Given the description of an element on the screen output the (x, y) to click on. 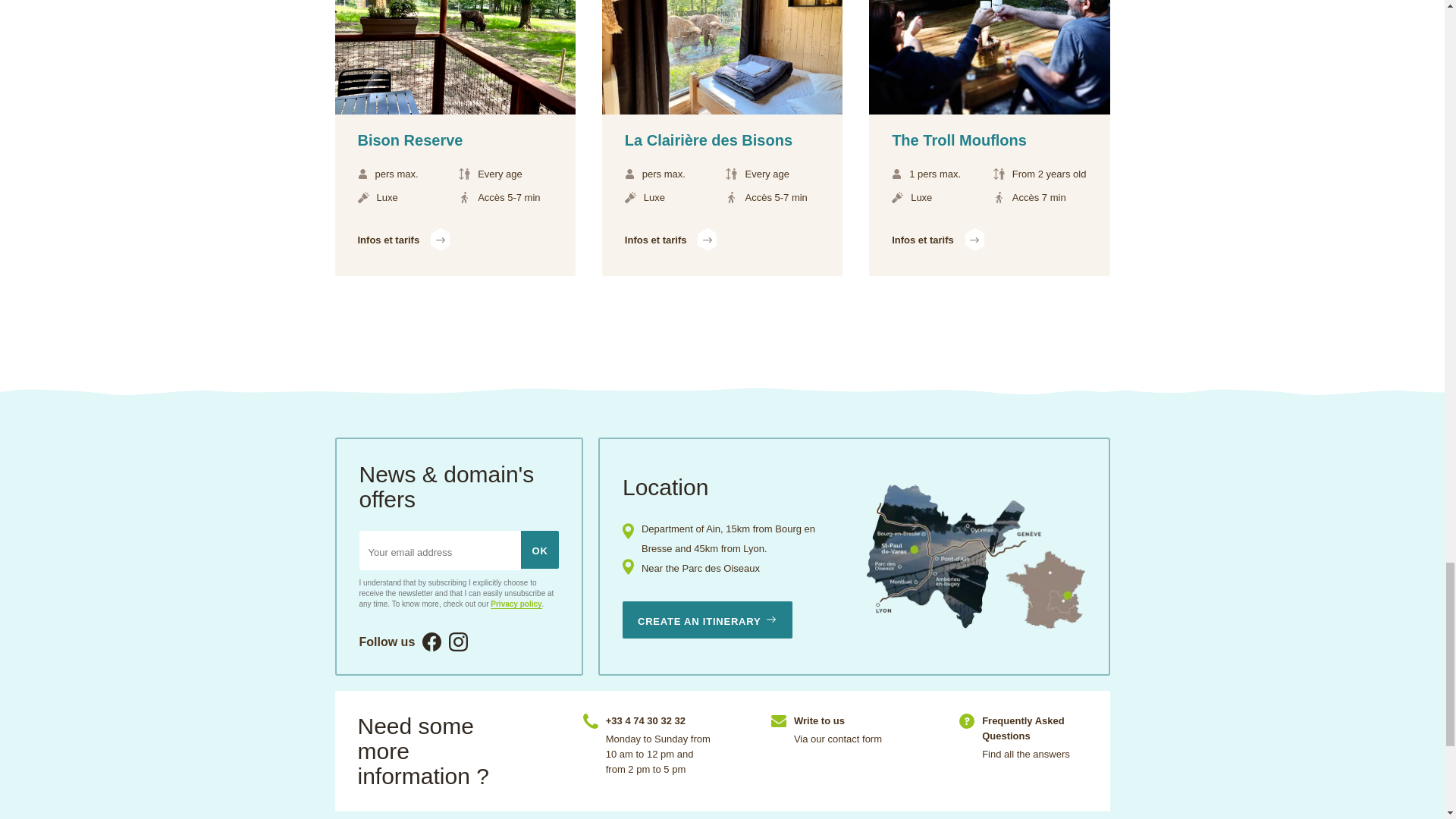
Privacy policy (515, 604)
OK (540, 549)
Visitez notre Instagram. Ouverture dans un nouvel onglet (457, 641)
OK (540, 549)
Visitez notre page Facebook. Ouverture dans un nouvel onglet (431, 641)
